Given the description of an element on the screen output the (x, y) to click on. 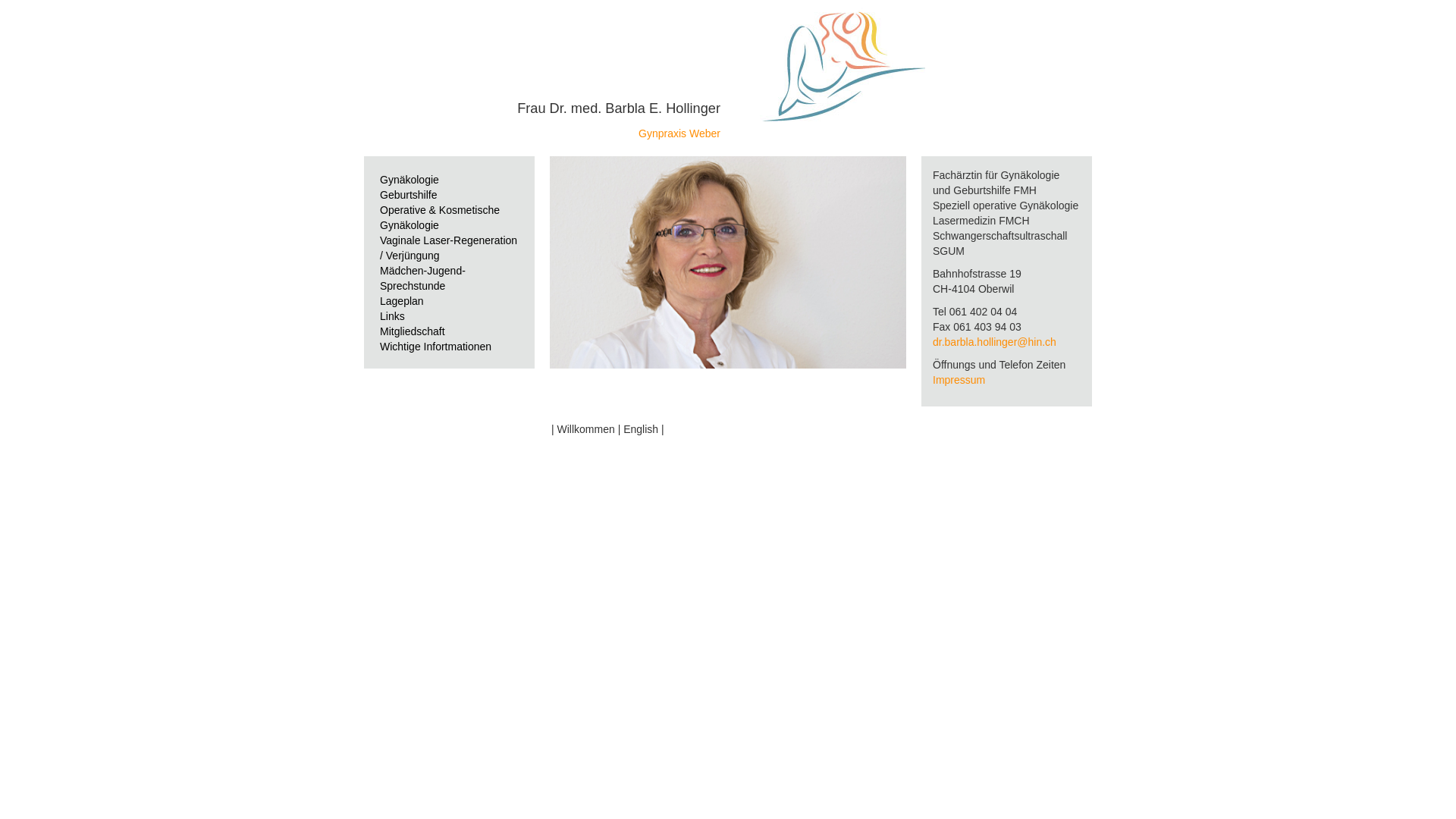
Geburtshilfe Element type: text (448, 194)
Mitgliedschaft Element type: text (412, 331)
English Element type: text (640, 429)
Wichtige Infortmationen Element type: text (448, 346)
Wichtige Infortmationen Element type: text (435, 346)
Willkommen Element type: text (586, 429)
Mitgliedschaft Element type: text (448, 330)
Lageplan Element type: text (448, 300)
Links Element type: text (391, 316)
Lageplan Element type: text (401, 300)
Links Element type: text (448, 315)
Geburtshilfe Element type: text (407, 194)
Impressum Element type: text (958, 379)
Gynpraxis Weber Element type: text (679, 133)
dr.barbla.hollinger@hin.ch Element type: text (994, 341)
